Given the description of an element on the screen output the (x, y) to click on. 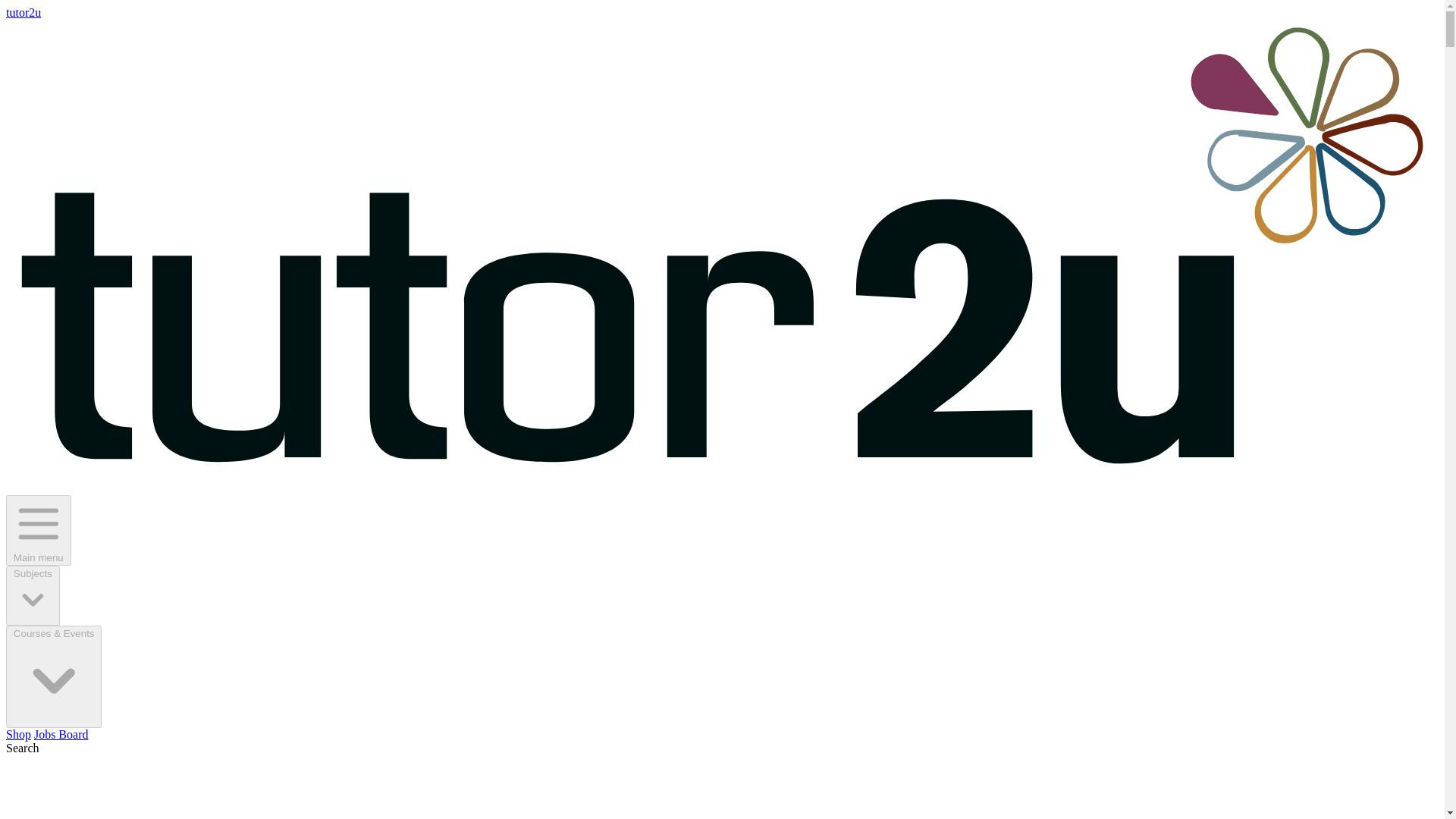
Subjects (32, 595)
Shop (17, 734)
Jobs Board (60, 734)
Main menu (38, 530)
